Given the description of an element on the screen output the (x, y) to click on. 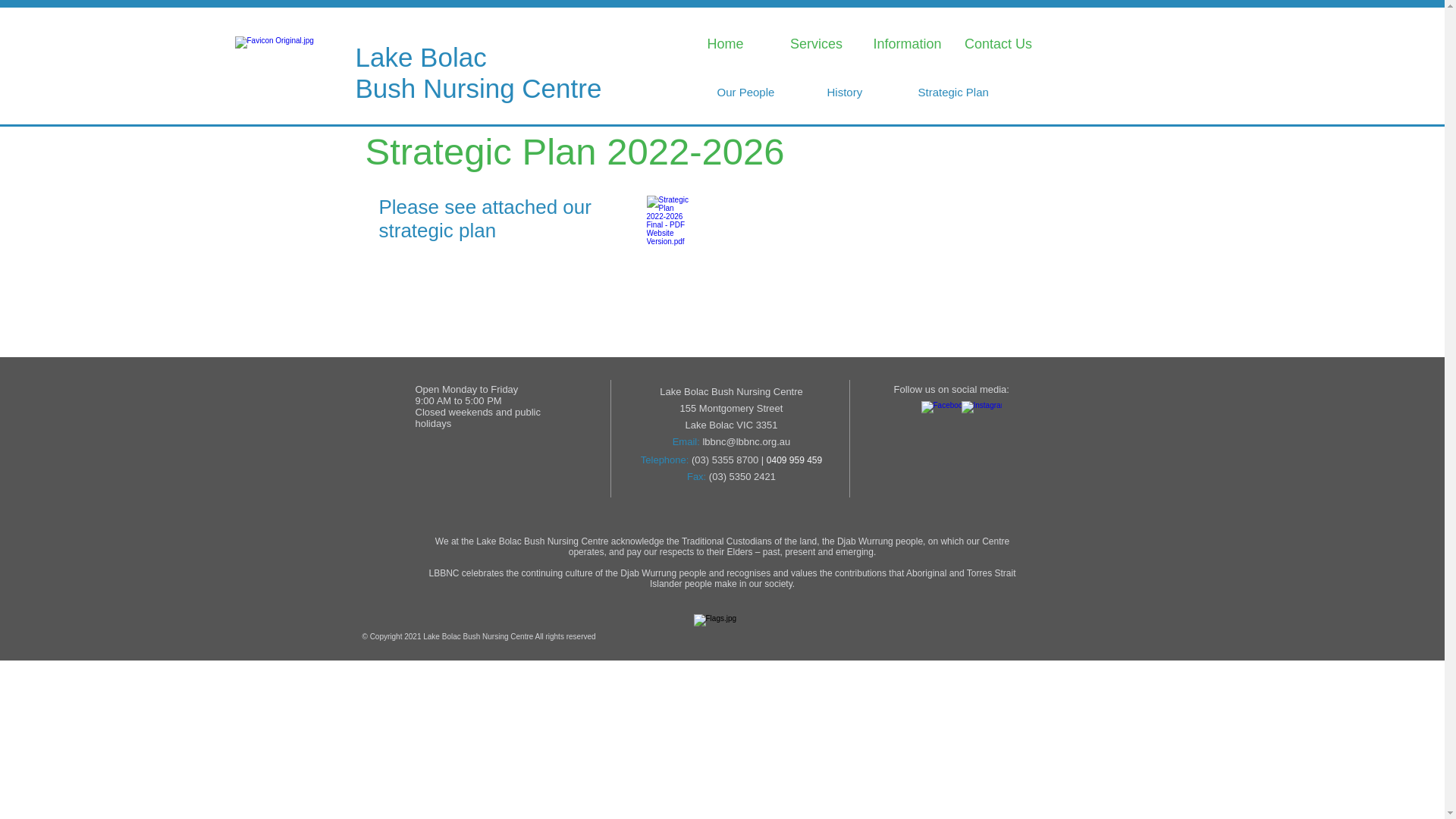
lbbnc@lbbnc.org.au Element type: text (746, 441)
Strategic Plan 2022-2026 Final - PDF Website Version.pdf Element type: hover (668, 234)
Strategic Plan Element type: text (952, 91)
Please see attached our strategic plan Element type: text (485, 218)
Bush Nursing Centre Element type: text (477, 88)
Our People Element type: text (746, 91)
Home Element type: text (724, 44)
History Element type: text (844, 91)
Contact Us Element type: text (997, 44)
Services Element type: text (815, 44)
Lake Bolac Element type: text (420, 57)
Information Element type: text (906, 44)
